Given the description of an element on the screen output the (x, y) to click on. 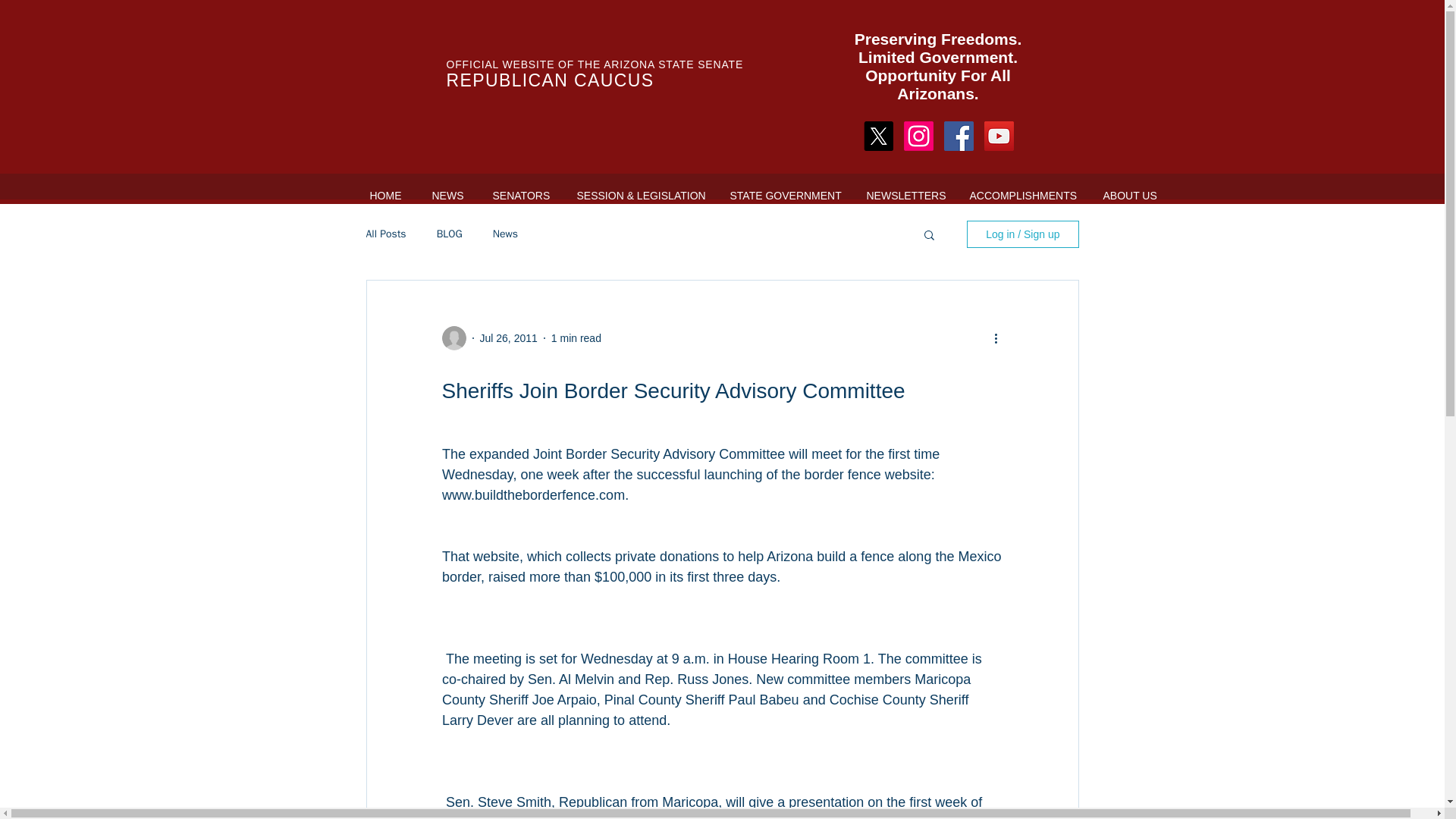
OFFICIAL WEBSITE OF THE ARIZONA STATE SENATE (593, 64)
NEWSLETTERS (901, 195)
News (505, 233)
REPUBLICAN CAUCUS (549, 80)
SENATORS (519, 195)
BLOG (449, 233)
HOME (385, 195)
Jul 26, 2011 (508, 337)
STATE GOVERNMENT (782, 195)
ACCOMPLISHMENTS (1020, 195)
All Posts (385, 233)
1 min read (576, 337)
NEWS (446, 195)
ABOUT US (1128, 195)
